Given the description of an element on the screen output the (x, y) to click on. 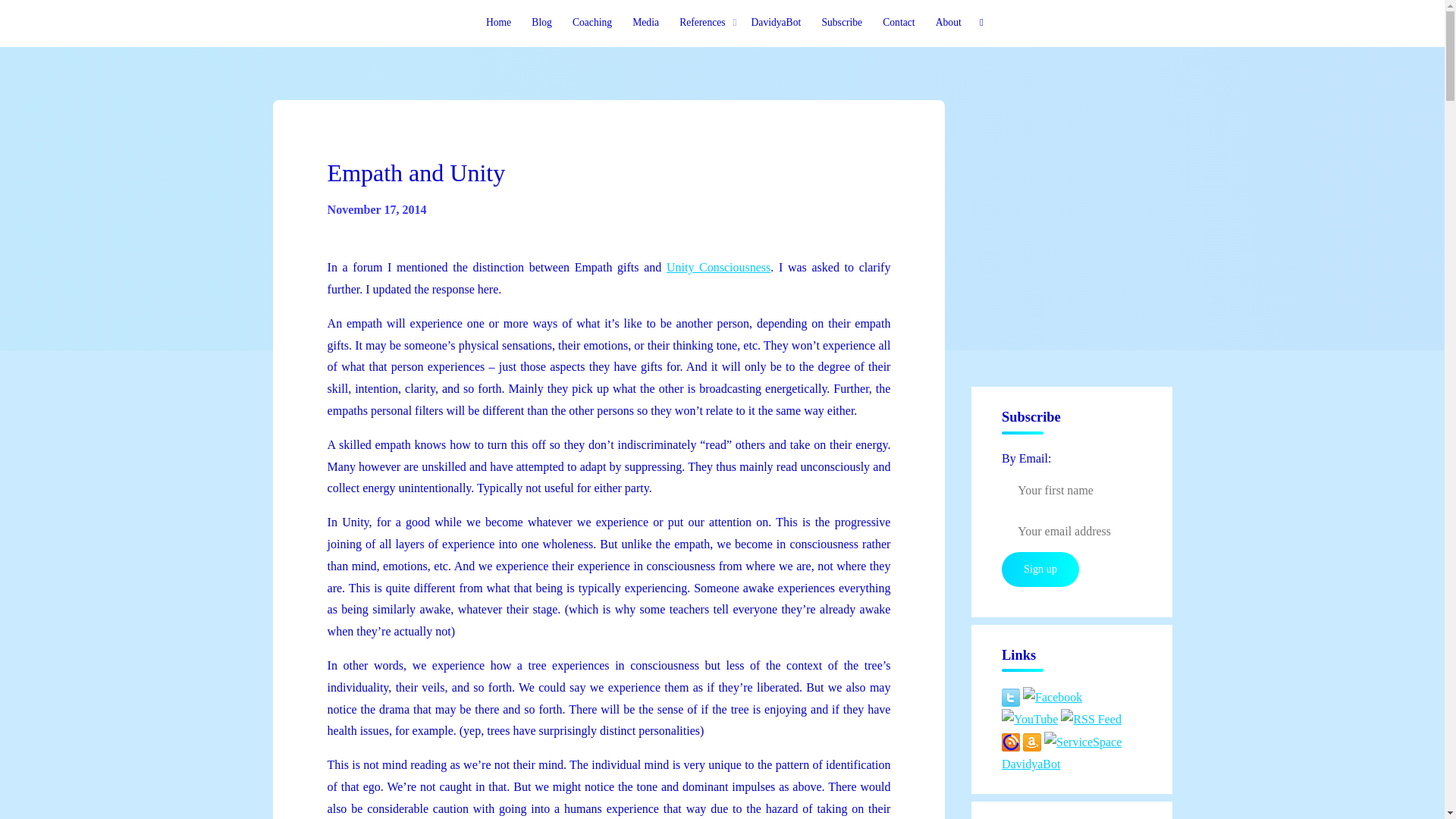
Subscribe (841, 22)
Sign up (1039, 569)
Explorations of Life and Enlightenment (351, 32)
References (705, 22)
Home (498, 22)
Coaching (591, 22)
DAVIDYA.CA (351, 32)
Media (646, 22)
Contact (898, 22)
DavidyaBot (775, 22)
